Given the description of an element on the screen output the (x, y) to click on. 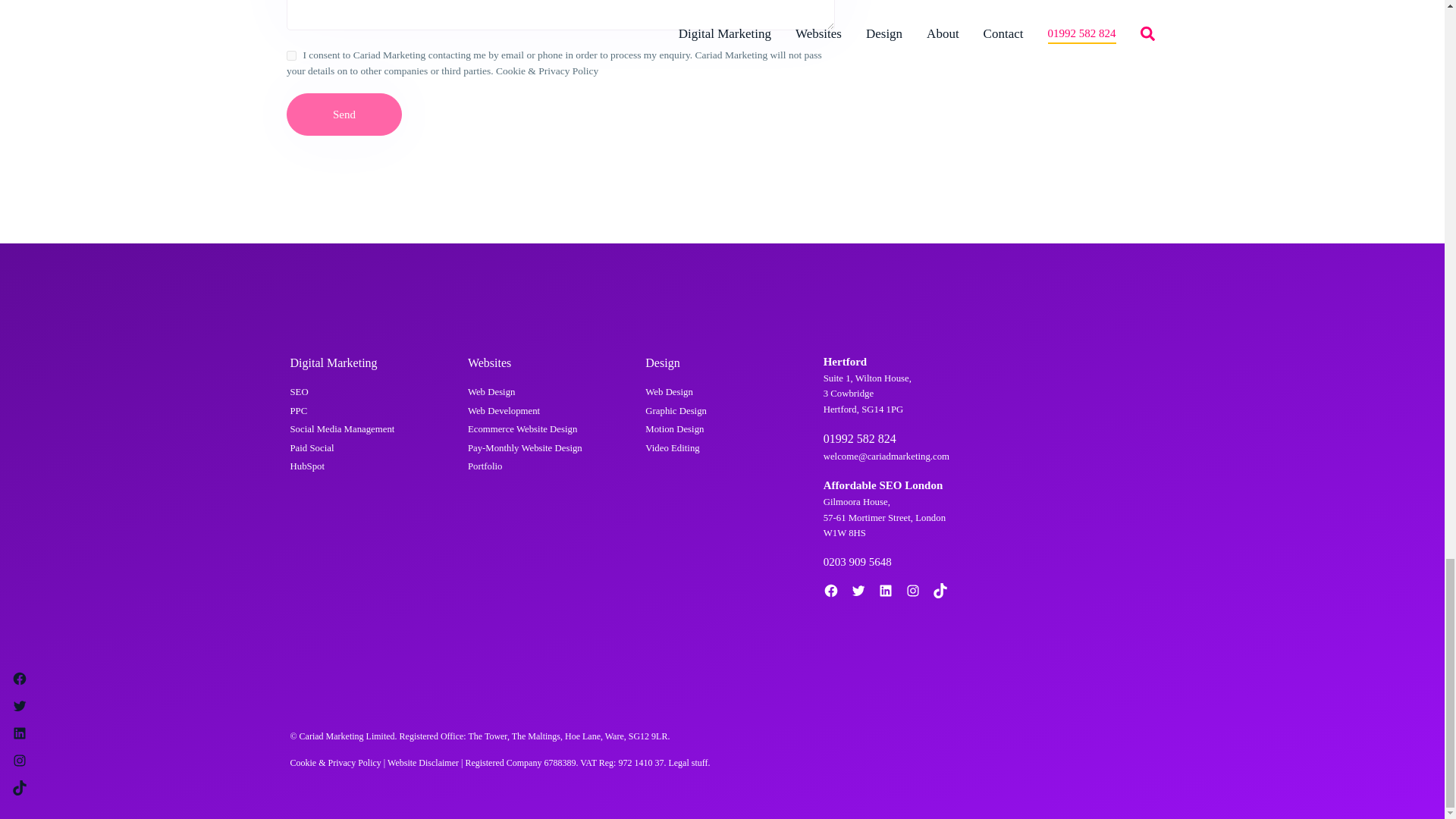
Google Partner Logo (1044, 383)
Send (343, 114)
Cariad Logo (309, 301)
1 (291, 55)
Hubspot Partner Logo (1044, 473)
